Given the description of an element on the screen output the (x, y) to click on. 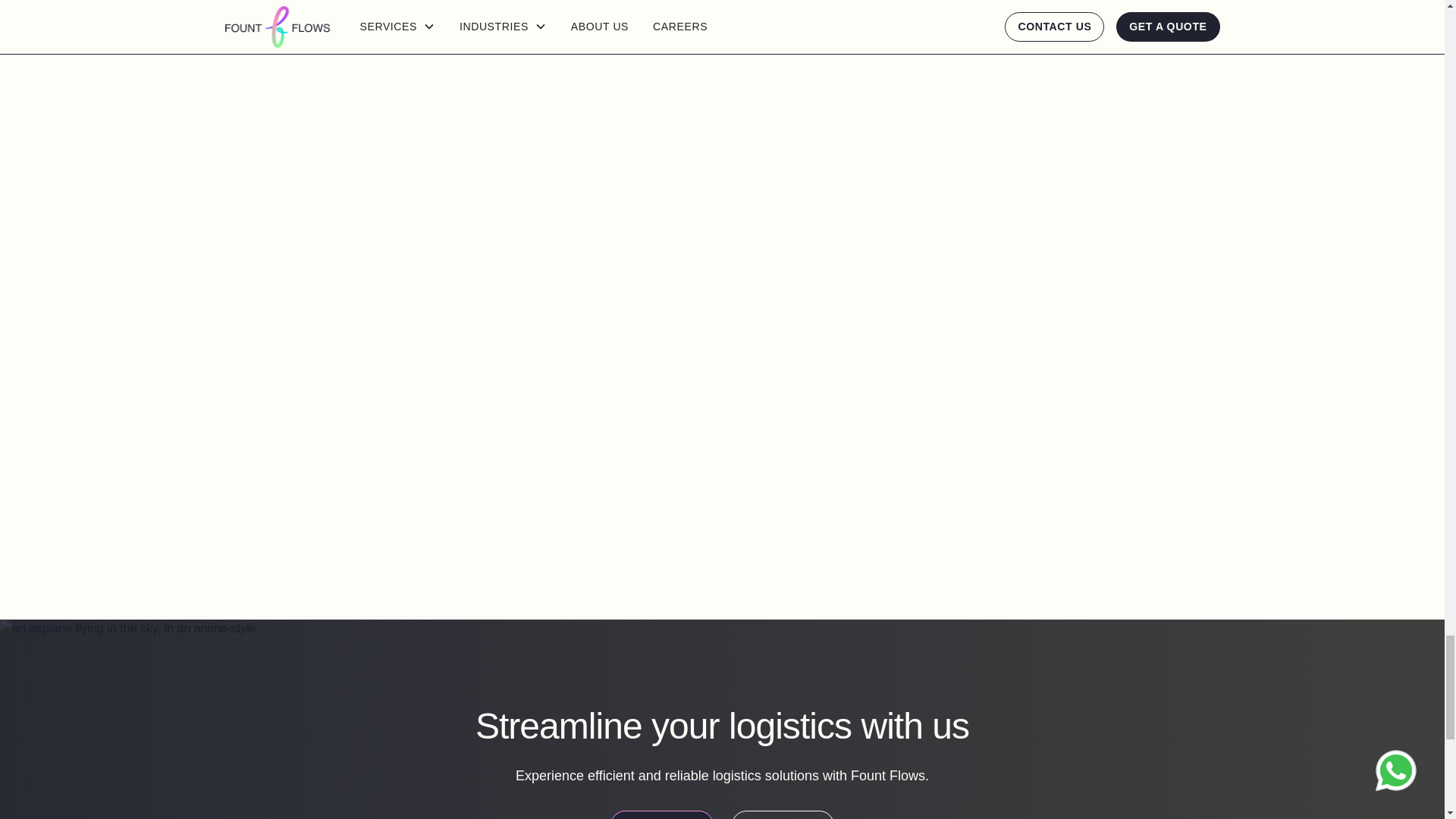
LEARN MORE (782, 814)
GET A QUOTE (661, 814)
